Given the description of an element on the screen output the (x, y) to click on. 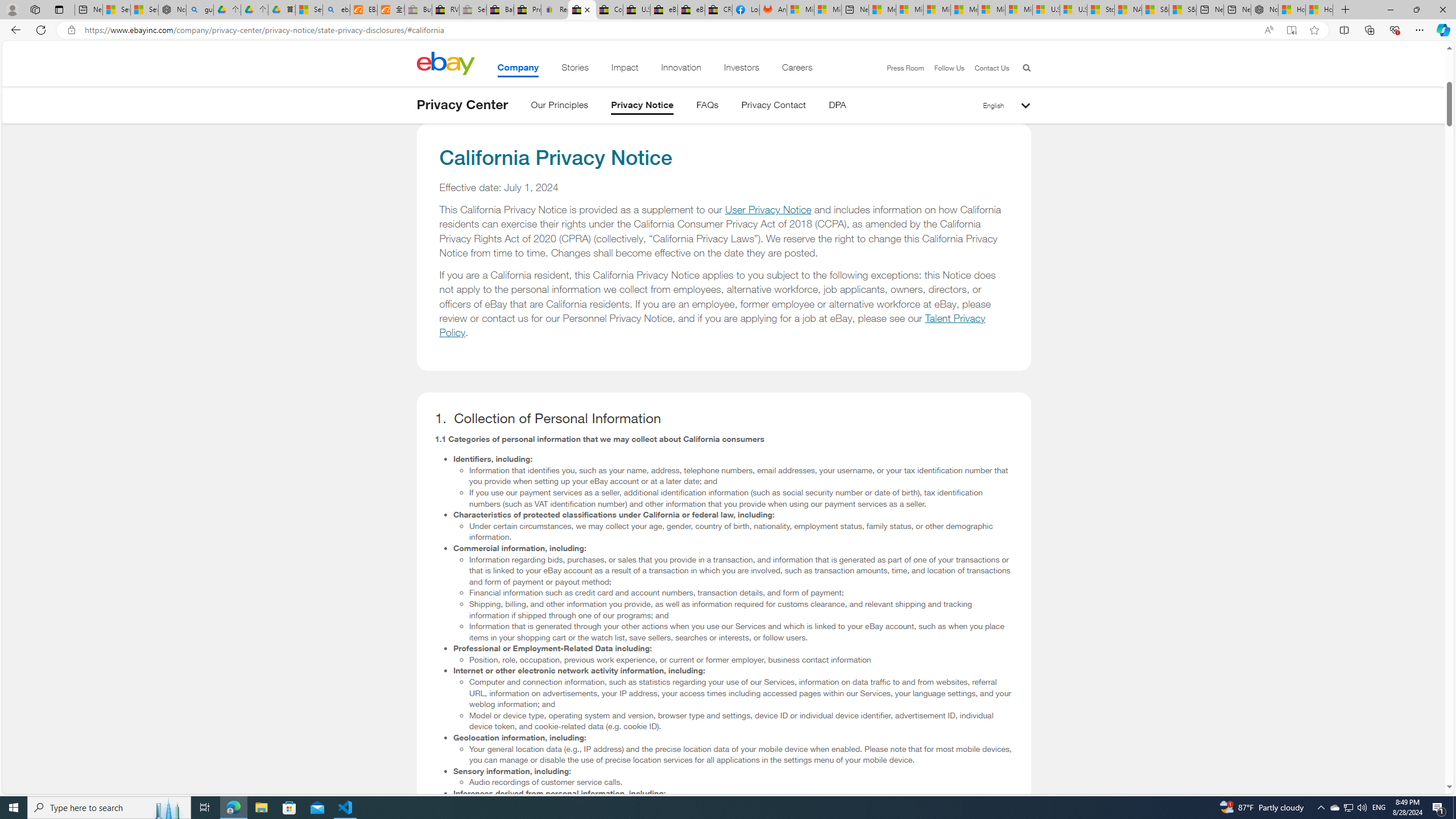
guge yunpan - Search (200, 9)
